Given the description of an element on the screen output the (x, y) to click on. 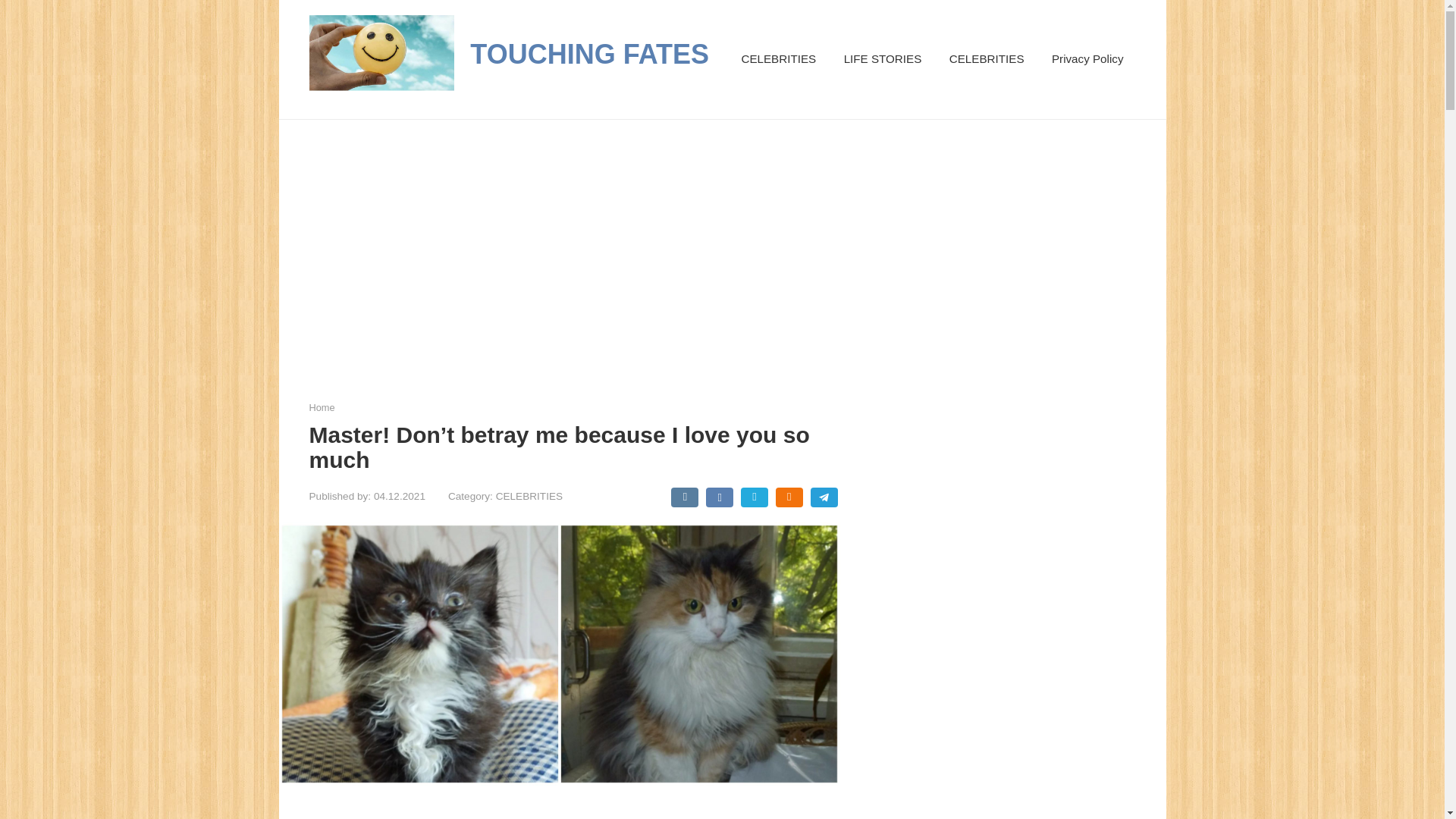
CELEBRITIES (778, 59)
Home (321, 407)
Advertisement (585, 810)
Privacy Policy (1087, 59)
CELEBRITIES (529, 496)
TOUCHING FATES (589, 53)
LIFE STORIES (882, 59)
CELEBRITIES (987, 59)
